Given the description of an element on the screen output the (x, y) to click on. 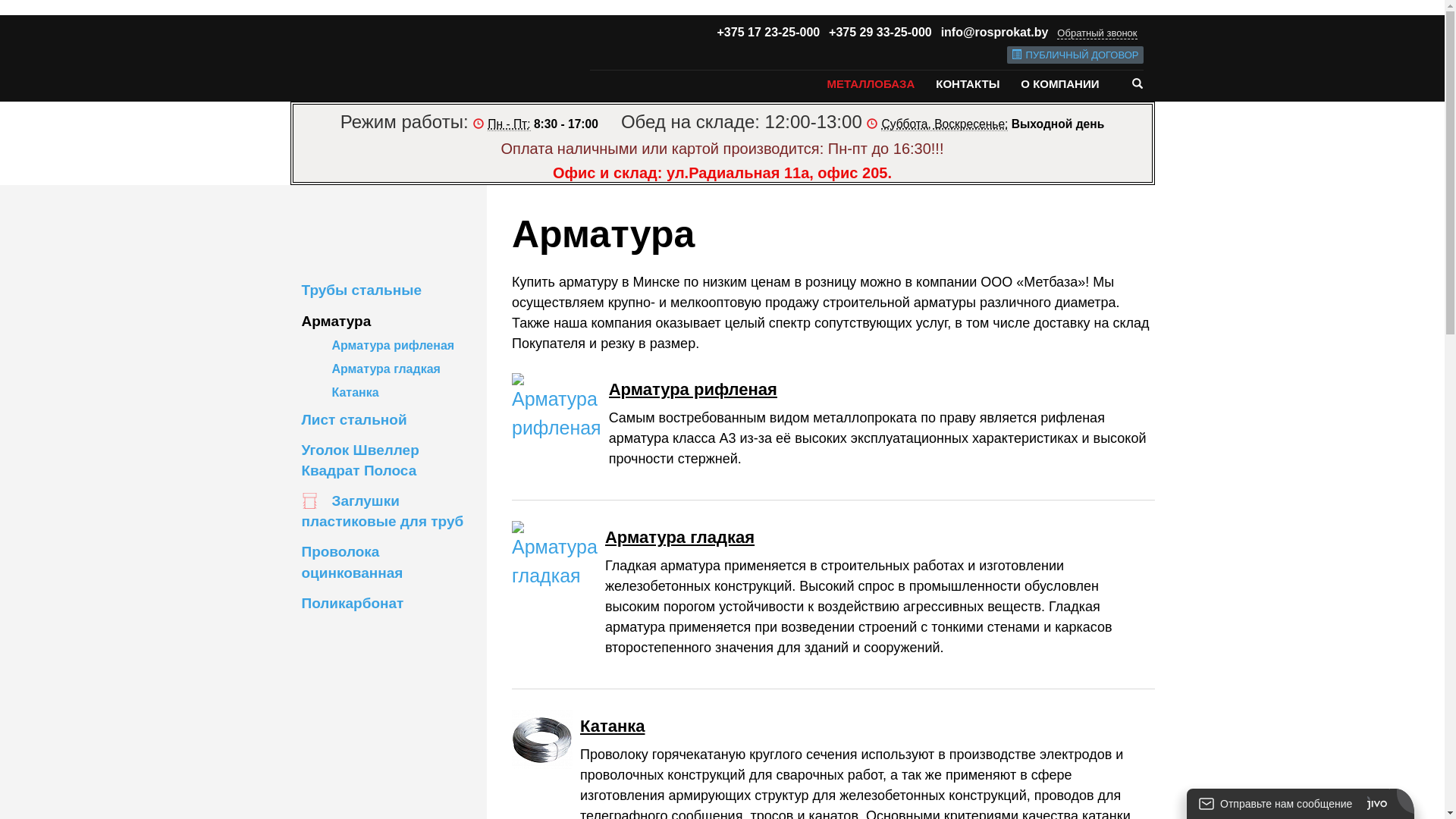
+375 17 23-25-000 Element type: text (768, 31)
info@rosprokat.by Element type: text (994, 31)
+375 29 33-25-000 Element type: text (879, 31)
